Given the description of an element on the screen output the (x, y) to click on. 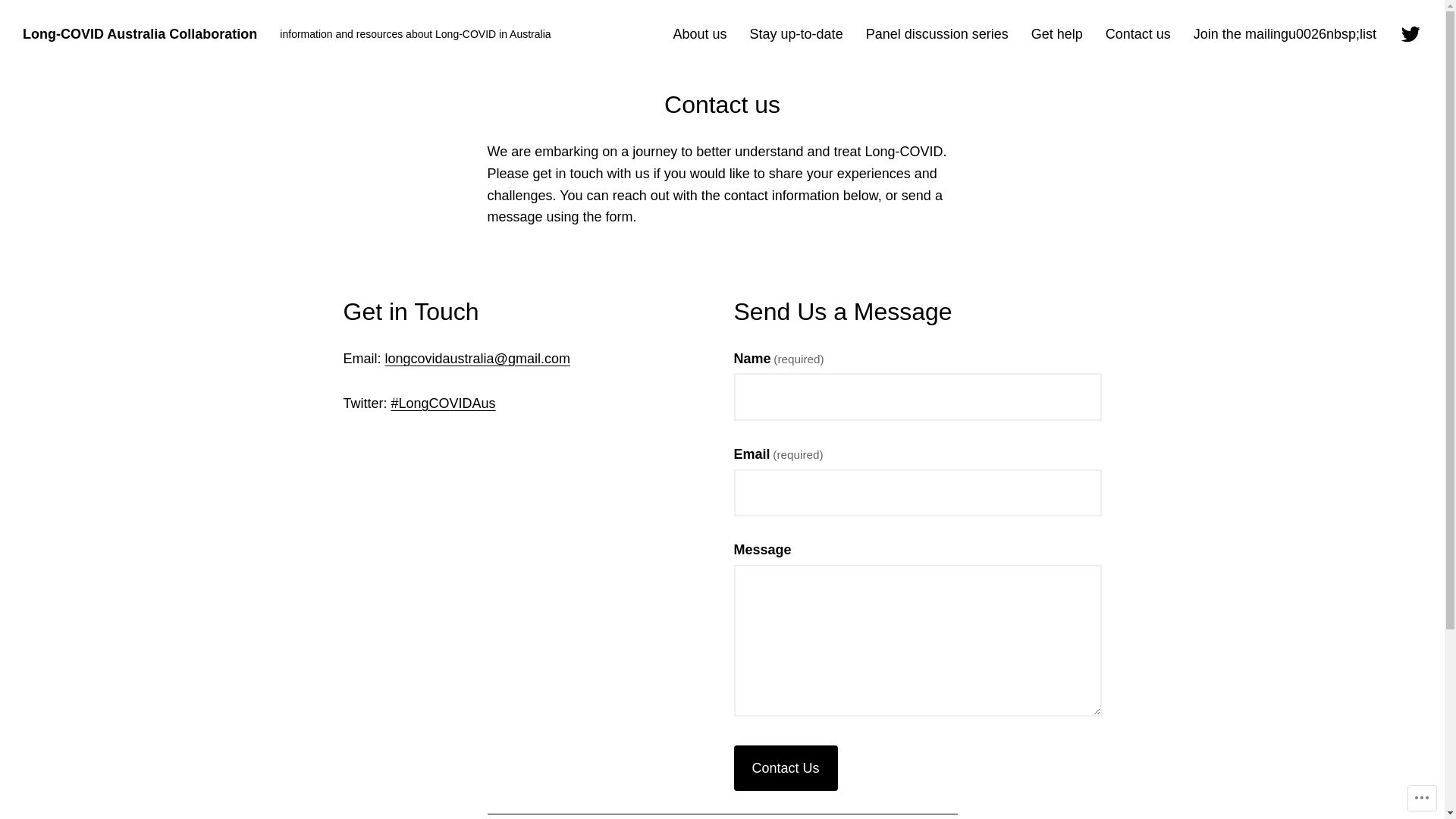
About us Element type: text (700, 34)
Get help Element type: text (1056, 34)
longcovidaustralia@gmail.com Element type: text (477, 358)
Long-COVID Australia Collaboration Element type: text (139, 33)
Panel discussion series Element type: text (937, 34)
Join the mailingu0026nbsp;list Element type: text (1284, 34)
Contact Us Element type: text (785, 767)
Stay up-to-date Element type: text (796, 34)
Contact us Element type: text (1137, 34)
#LongCOVIDAus Element type: text (443, 403)
